Given the description of an element on the screen output the (x, y) to click on. 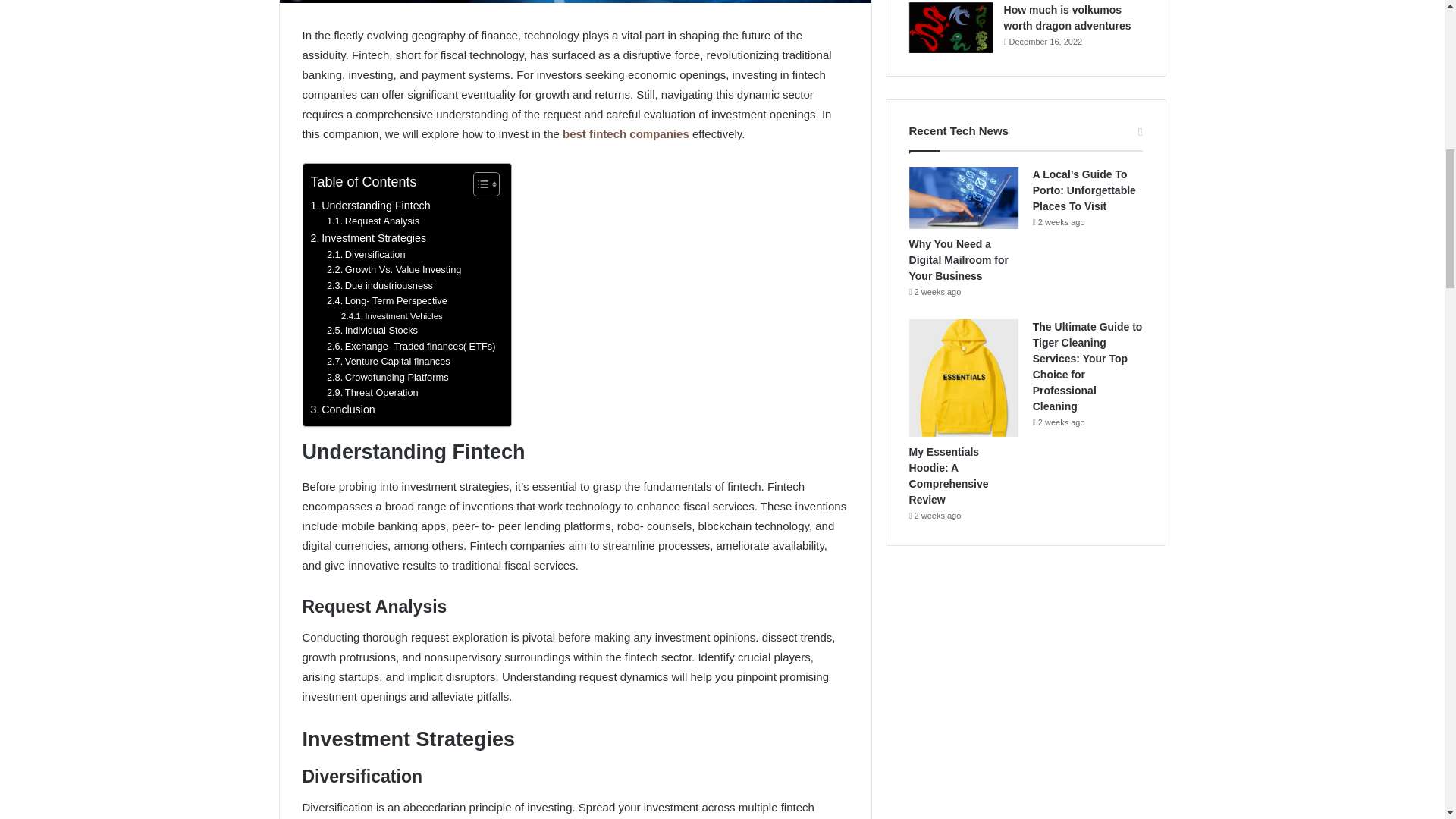
Investment Strategies (368, 238)
Understanding Fintech (370, 205)
Request Analysis (372, 221)
Diversification (366, 254)
